Given the description of an element on the screen output the (x, y) to click on. 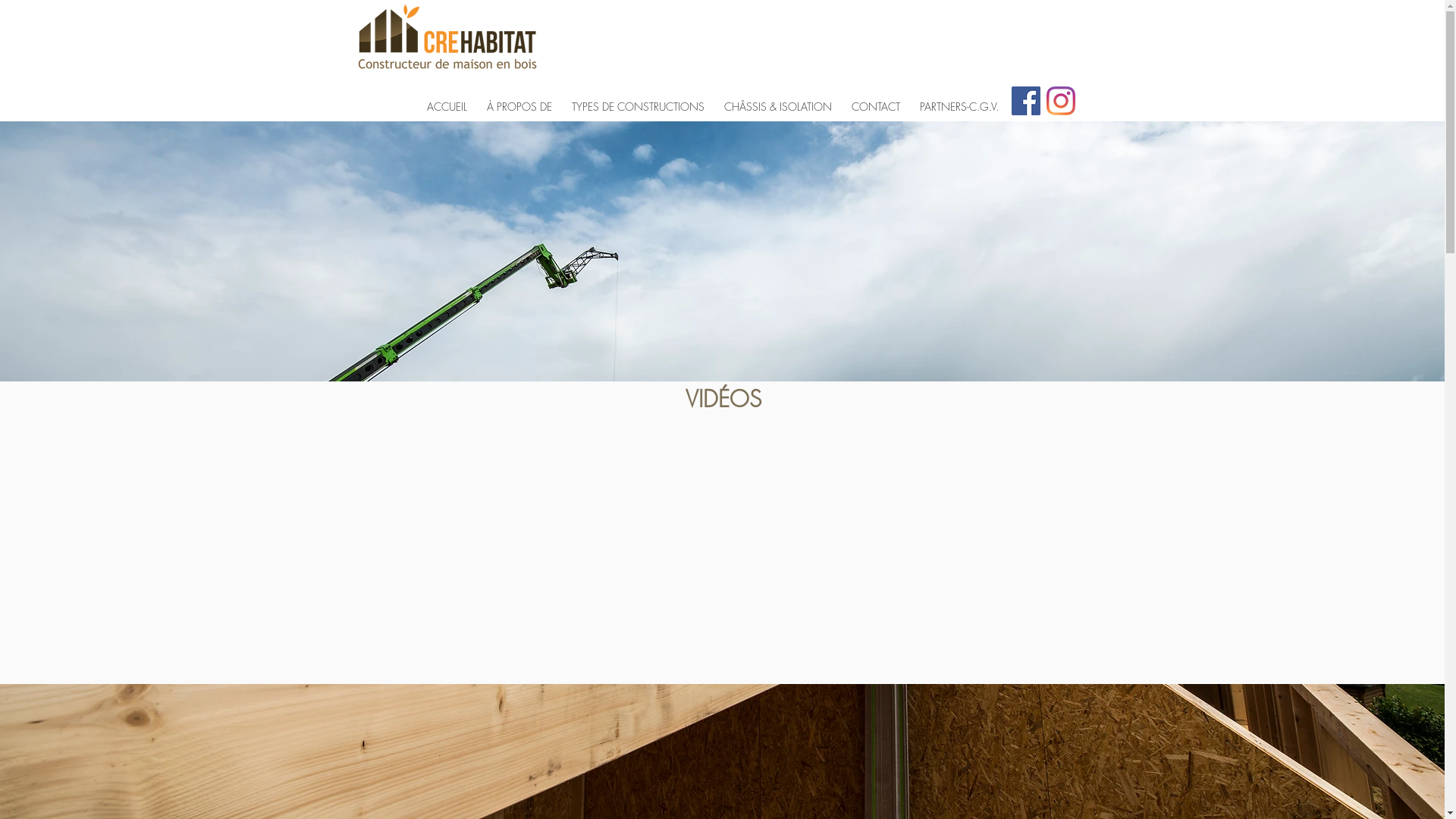
TYPES DE CONSTRUCTIONS Element type: text (637, 99)
External YouTube Element type: hover (723, 542)
ACCUEIL Element type: text (446, 99)
PARTNERS-C.G.V. Element type: text (959, 99)
CONTACT Element type: text (875, 99)
LogoCrehabitat-sans-bandeblancheTRSP.png Element type: hover (445, 40)
